Given the description of an element on the screen output the (x, y) to click on. 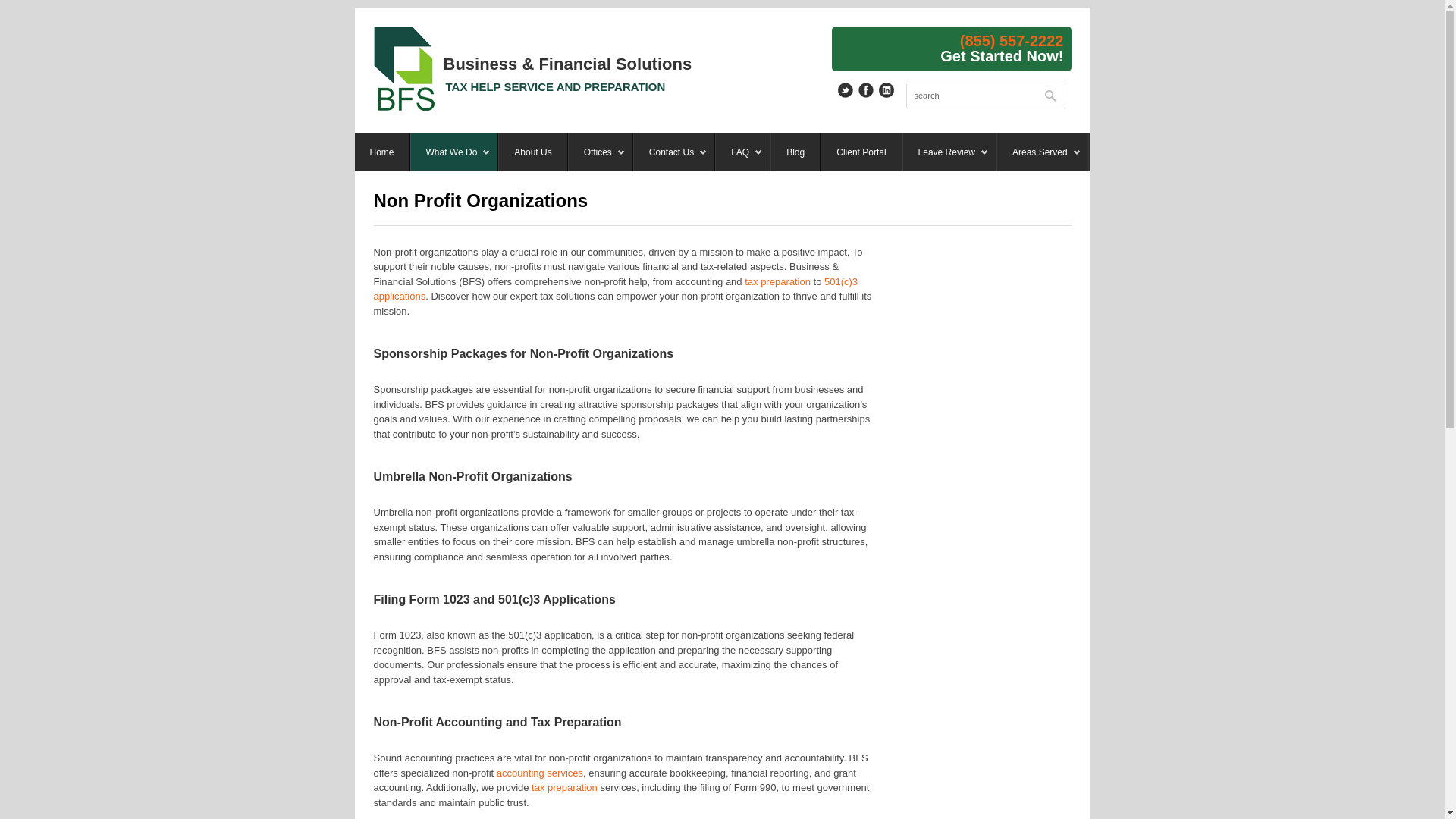
twitter (844, 89)
Home (382, 152)
Get Started Now! (1001, 54)
tax preparation (563, 787)
facebook (866, 89)
About Us (532, 152)
search (984, 95)
linkedin (885, 89)
